Given the description of an element on the screen output the (x, y) to click on. 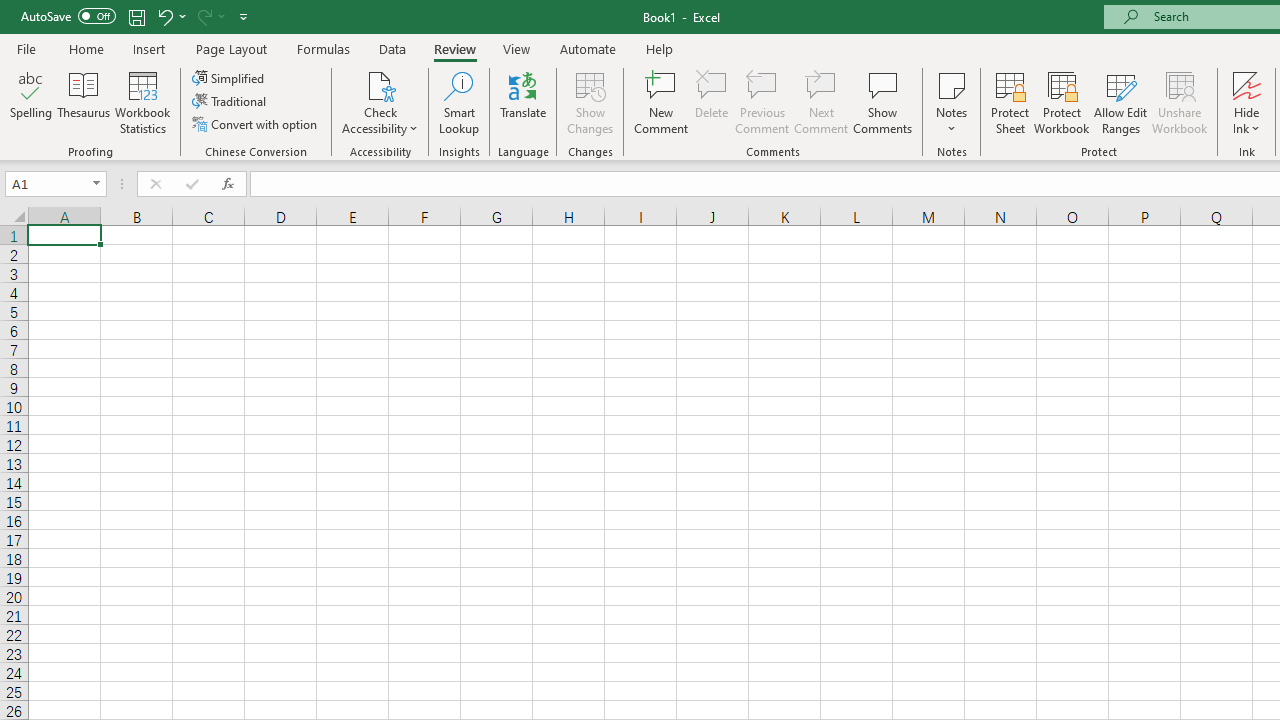
Delete (712, 102)
Unshare Workbook (1179, 102)
Smart Lookup (459, 102)
Allow Edit Ranges (1120, 102)
Convert with option (256, 124)
Show Changes (589, 102)
